Given the description of an element on the screen output the (x, y) to click on. 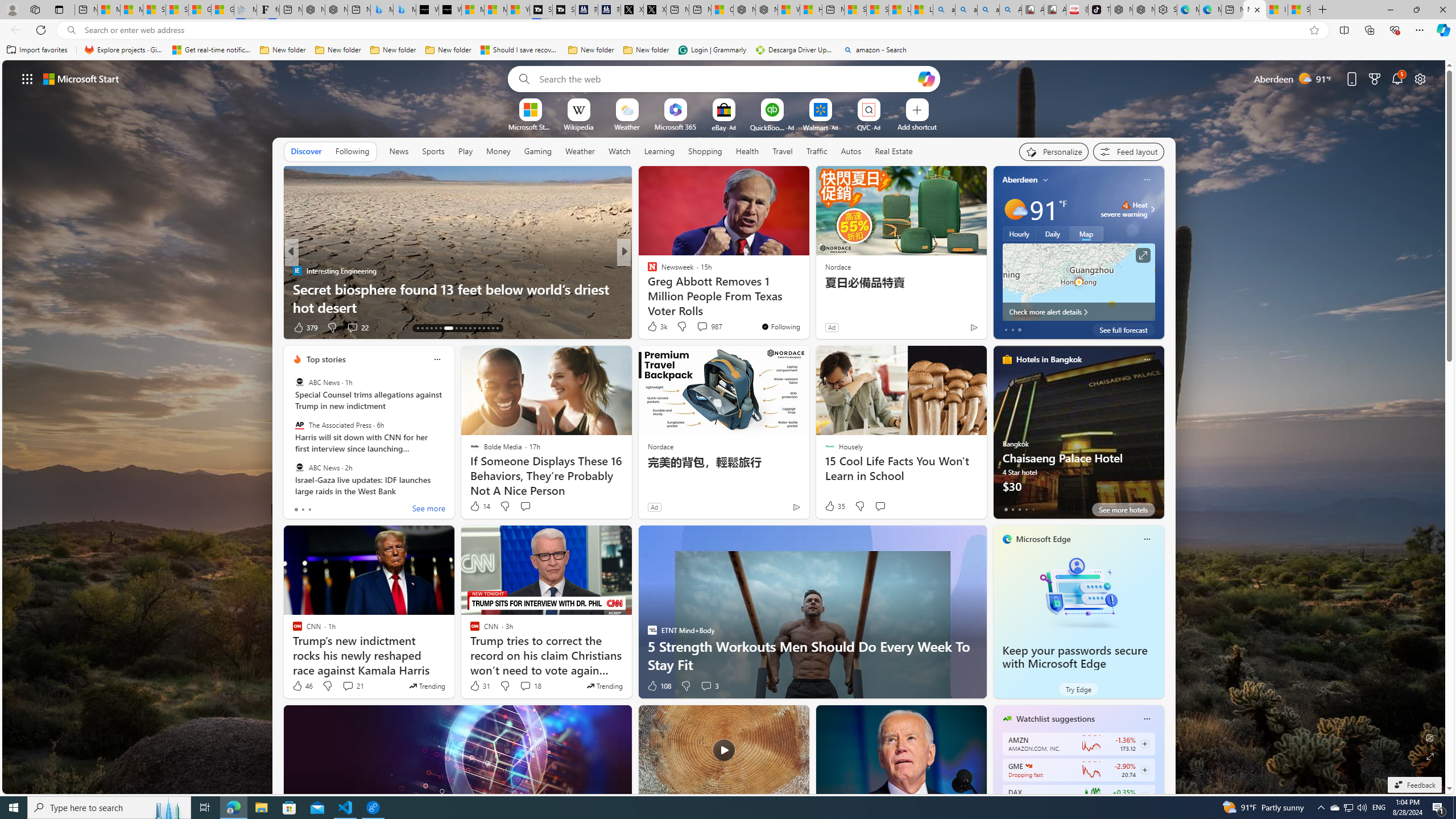
Keep your passwords secure with Microsoft Edge (1077, 592)
Feed settings (1128, 151)
Daily (1052, 233)
Hotels in Bangkok (1048, 359)
View comments 251 Comment (6, 327)
View comments 987 Comment (708, 326)
AutomationID: tab-19 (448, 328)
amazon - Search Images (988, 9)
14 Like (479, 505)
The Weather Channel (647, 270)
